Given the description of an element on the screen output the (x, y) to click on. 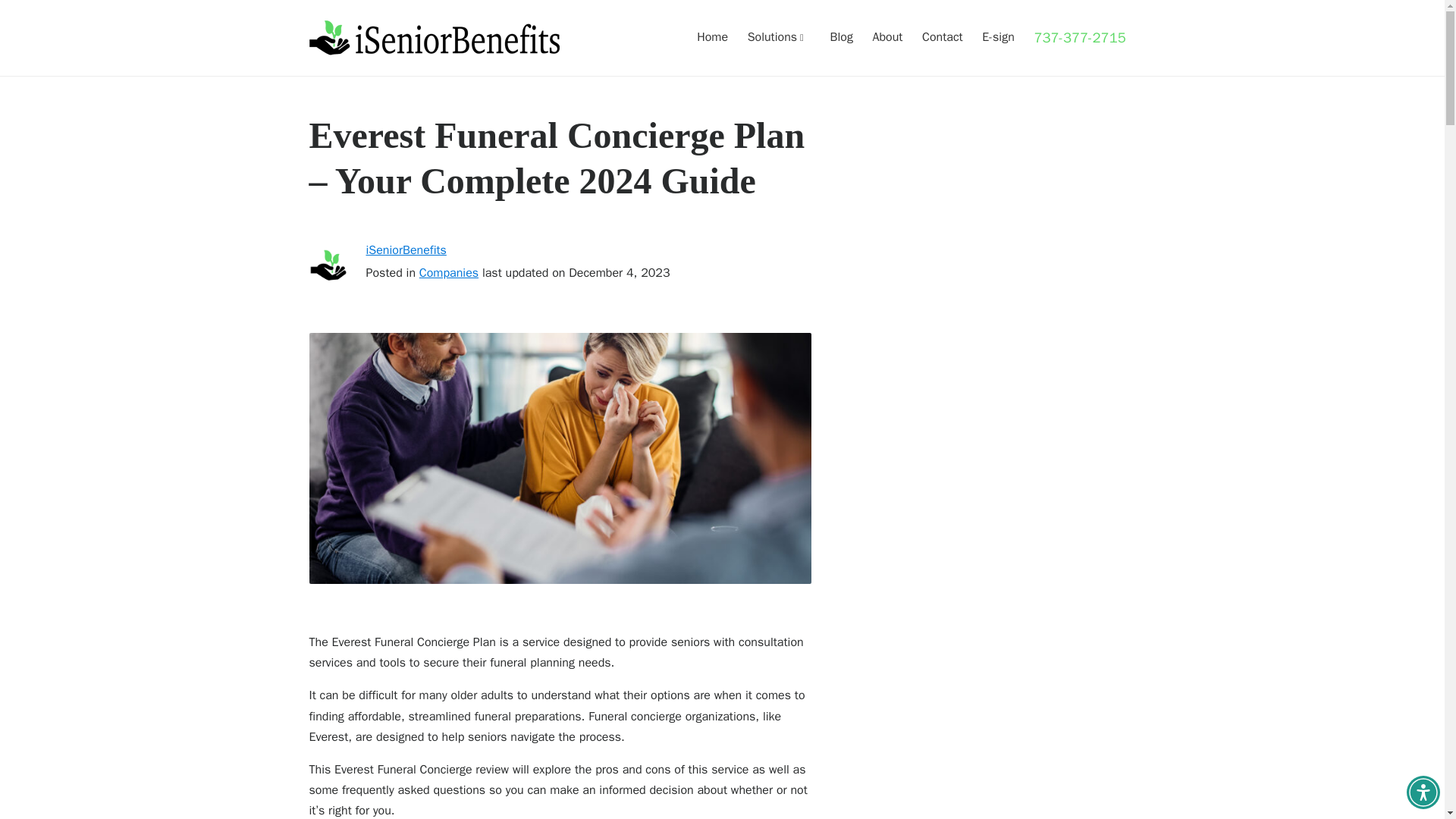
iSeniorBenefits (405, 249)
Home (712, 37)
Solutions (779, 37)
Companies (449, 272)
E-sign (997, 37)
Accessibility Menu (1422, 792)
Blog (842, 37)
About (887, 37)
Contact (942, 37)
737-377-2715 (1080, 37)
